Given the description of an element on the screen output the (x, y) to click on. 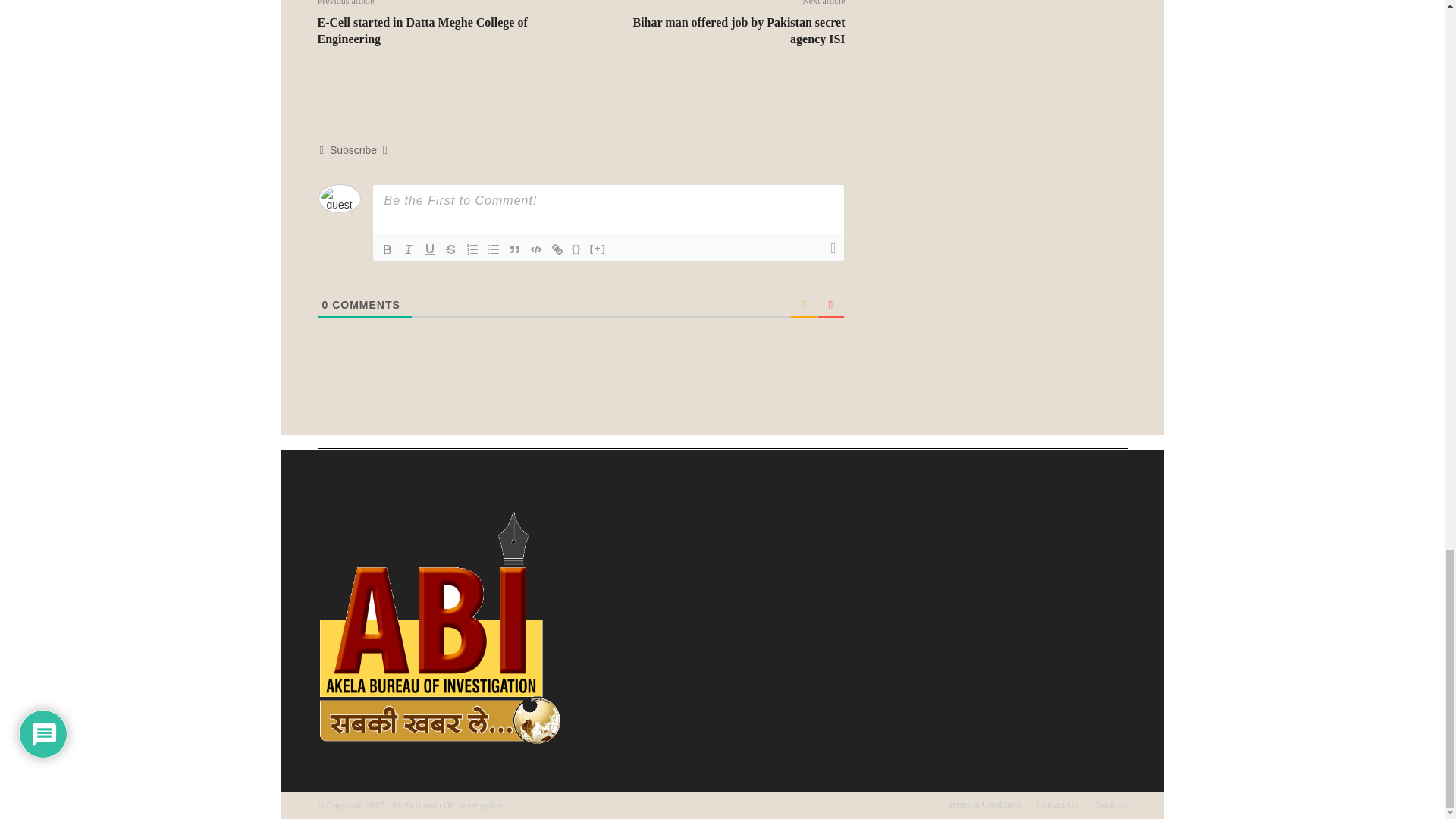
Unordered List (492, 249)
Ordered List (471, 249)
Code Block (535, 249)
Blockquote (513, 249)
Bold (386, 249)
Italic (408, 249)
Strike (450, 249)
Underline (429, 249)
